Given the description of an element on the screen output the (x, y) to click on. 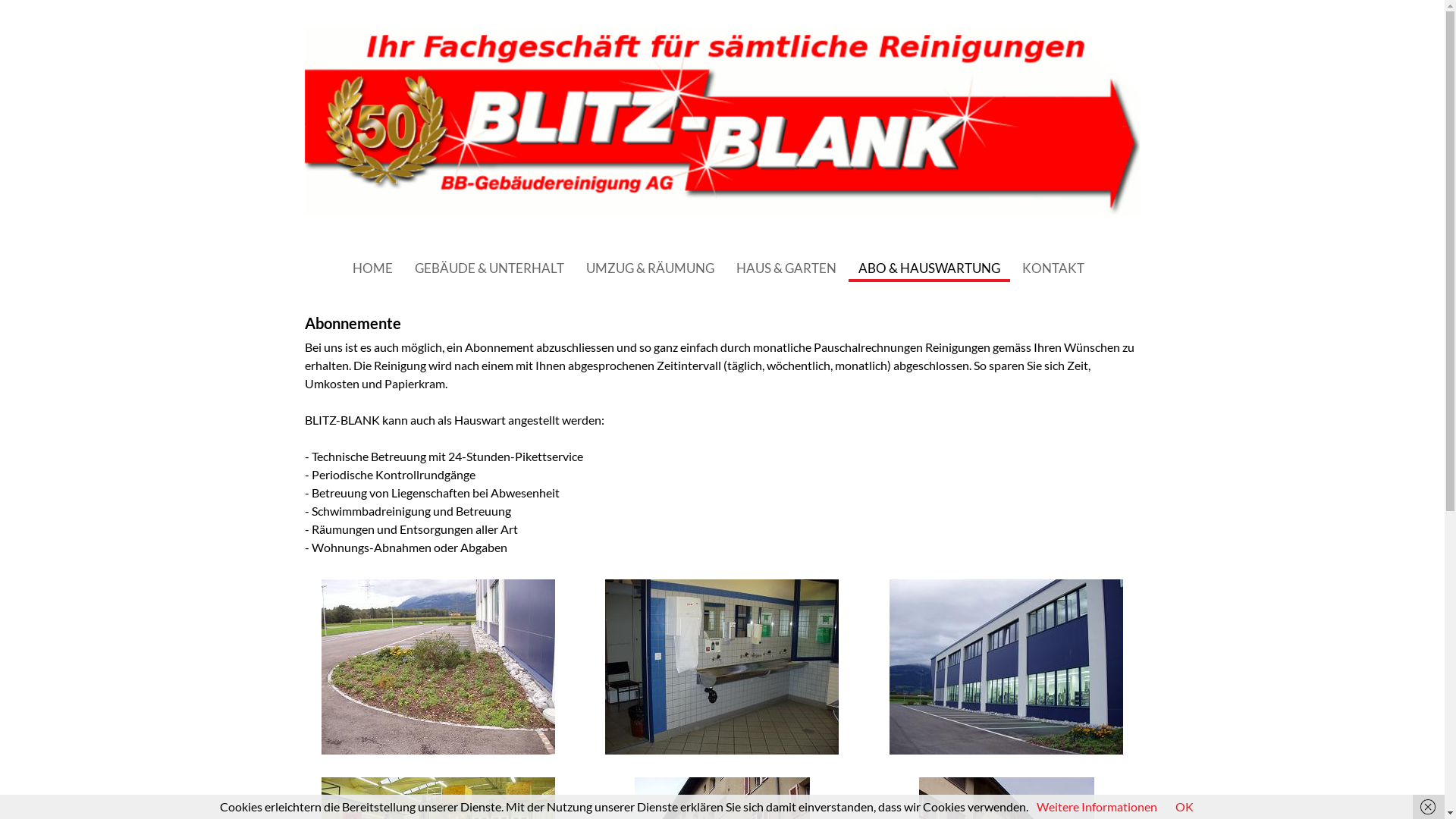
KONTAKT Element type: text (1053, 268)
OK Element type: text (1184, 806)
ABO & HAUSWARTUNG Element type: text (929, 268)
Weitere Informationen Element type: text (1095, 806)
HOME Element type: text (372, 268)
HAUS & GARTEN Element type: text (786, 268)
